Given the description of an element on the screen output the (x, y) to click on. 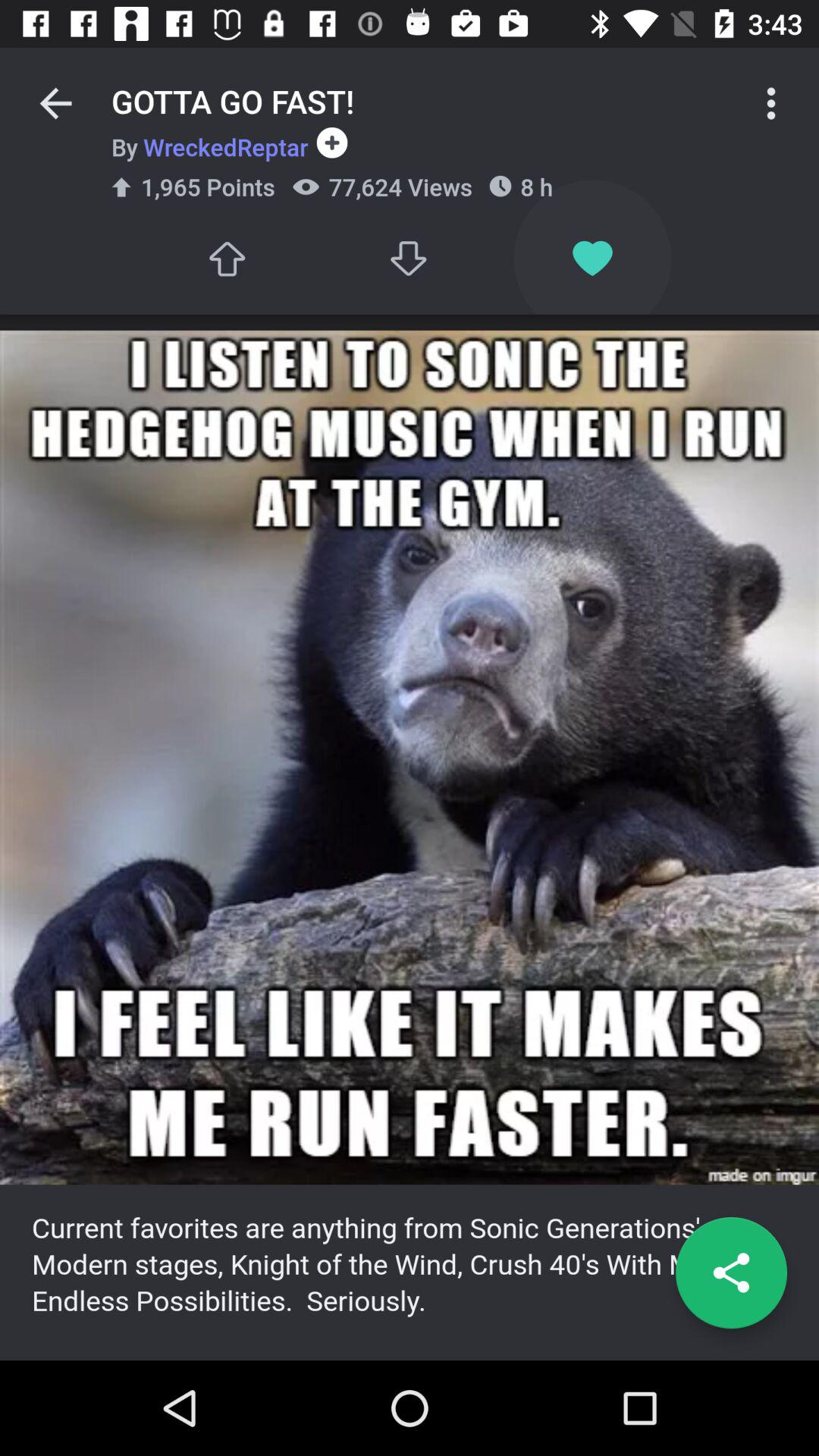
click the icon next to 8 h icon (328, 142)
